Given the description of an element on the screen output the (x, y) to click on. 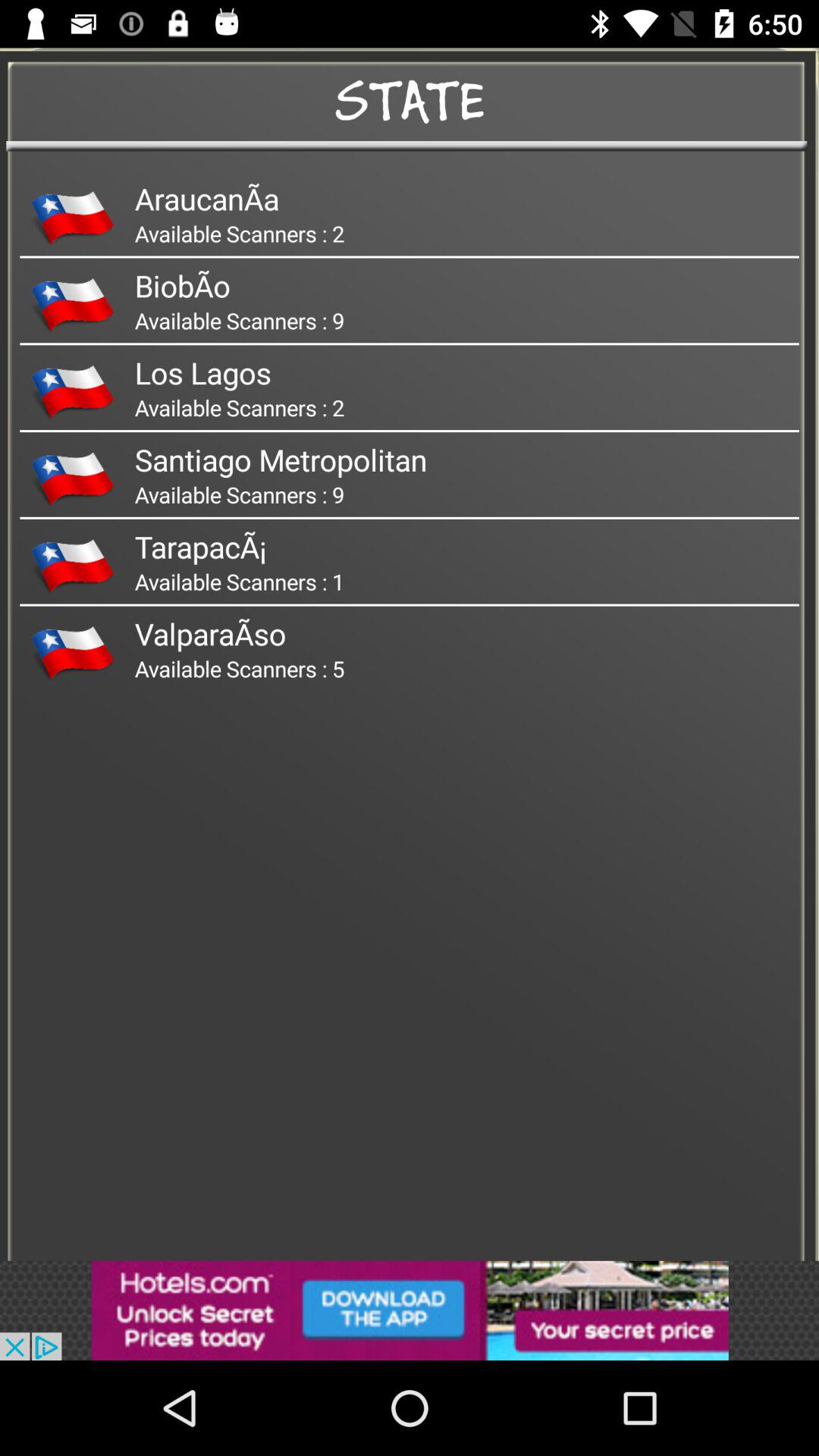
advertisement (409, 1310)
